Given the description of an element on the screen output the (x, y) to click on. 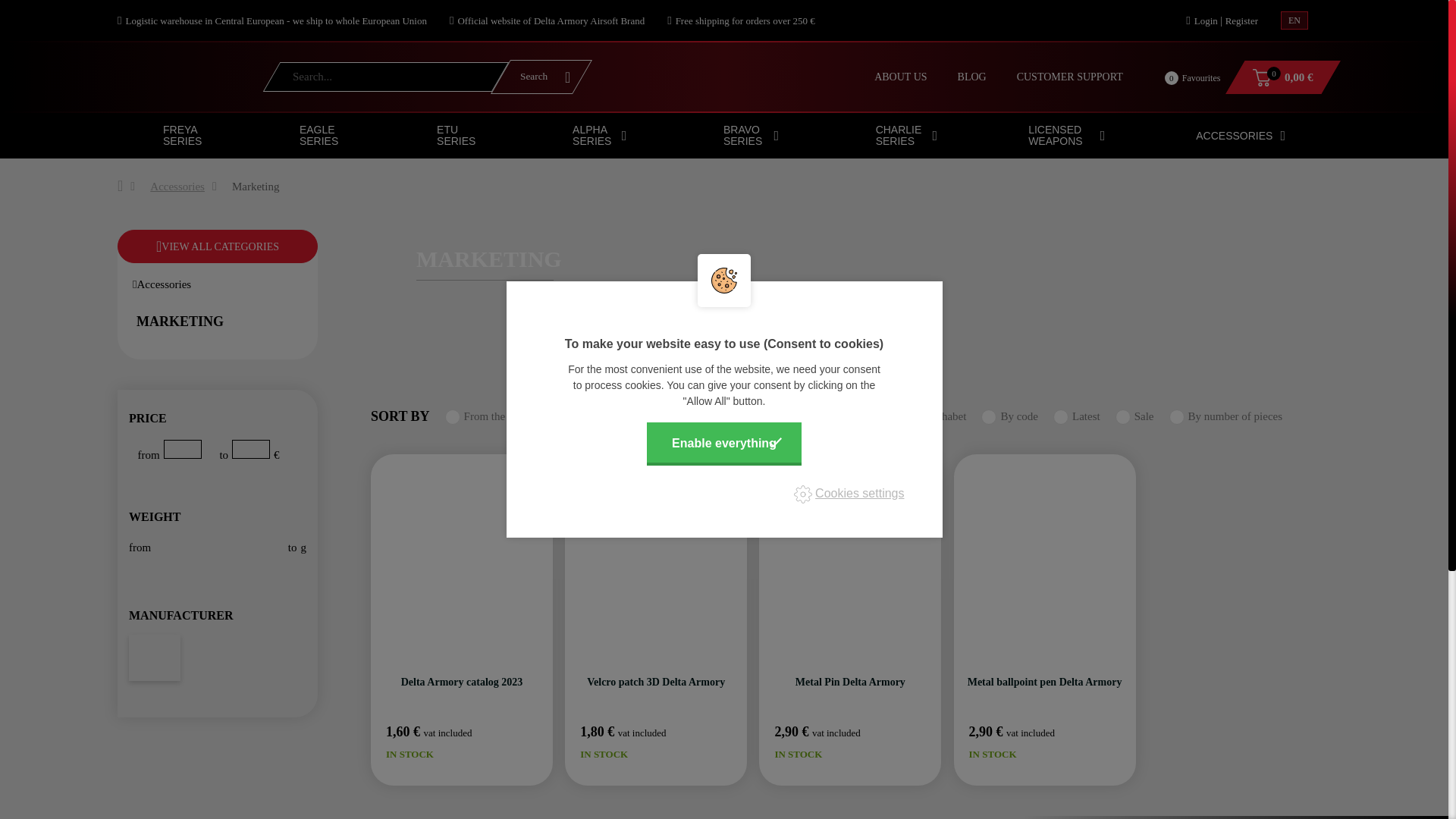
ALPHA SERIES (598, 135)
ETU SERIES (456, 135)
ABOUT US (900, 77)
FREYA SERIES (185, 135)
Register (1241, 20)
BLOG (971, 77)
Search (540, 76)
Enable everything (724, 442)
EAGLE SERIES (322, 135)
CUSTOMER SUPPORT (1069, 77)
Search (1179, 77)
EN (540, 76)
Login (1294, 20)
